Given the description of an element on the screen output the (x, y) to click on. 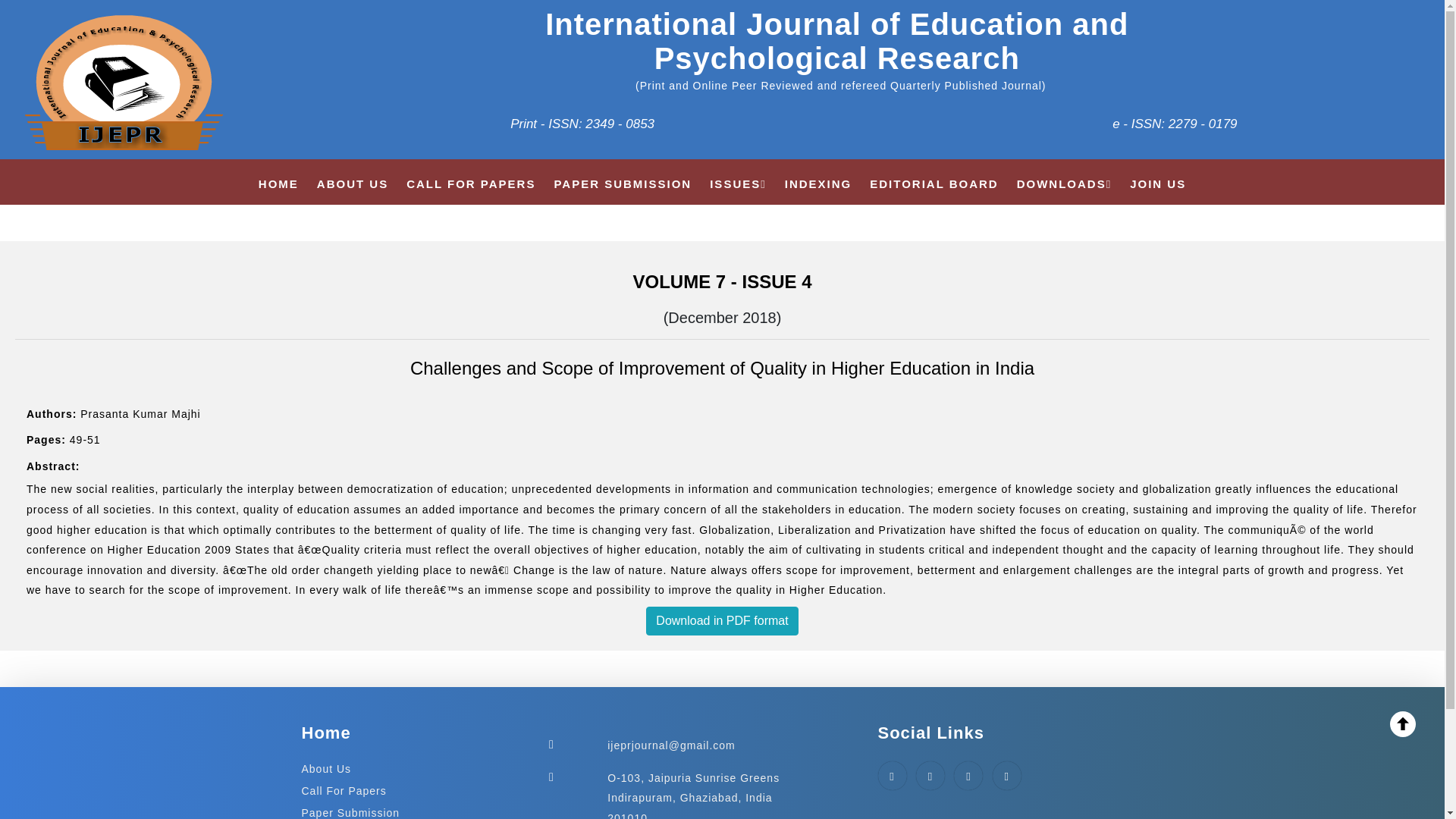
PAPER SUBMISSION (622, 183)
Paper Submission (350, 812)
CALL FOR PAPERS (470, 183)
ABOUT US (352, 183)
ISSUES (738, 183)
HOME (278, 183)
Call For Papers (344, 790)
About Us (326, 768)
